Given the description of an element on the screen output the (x, y) to click on. 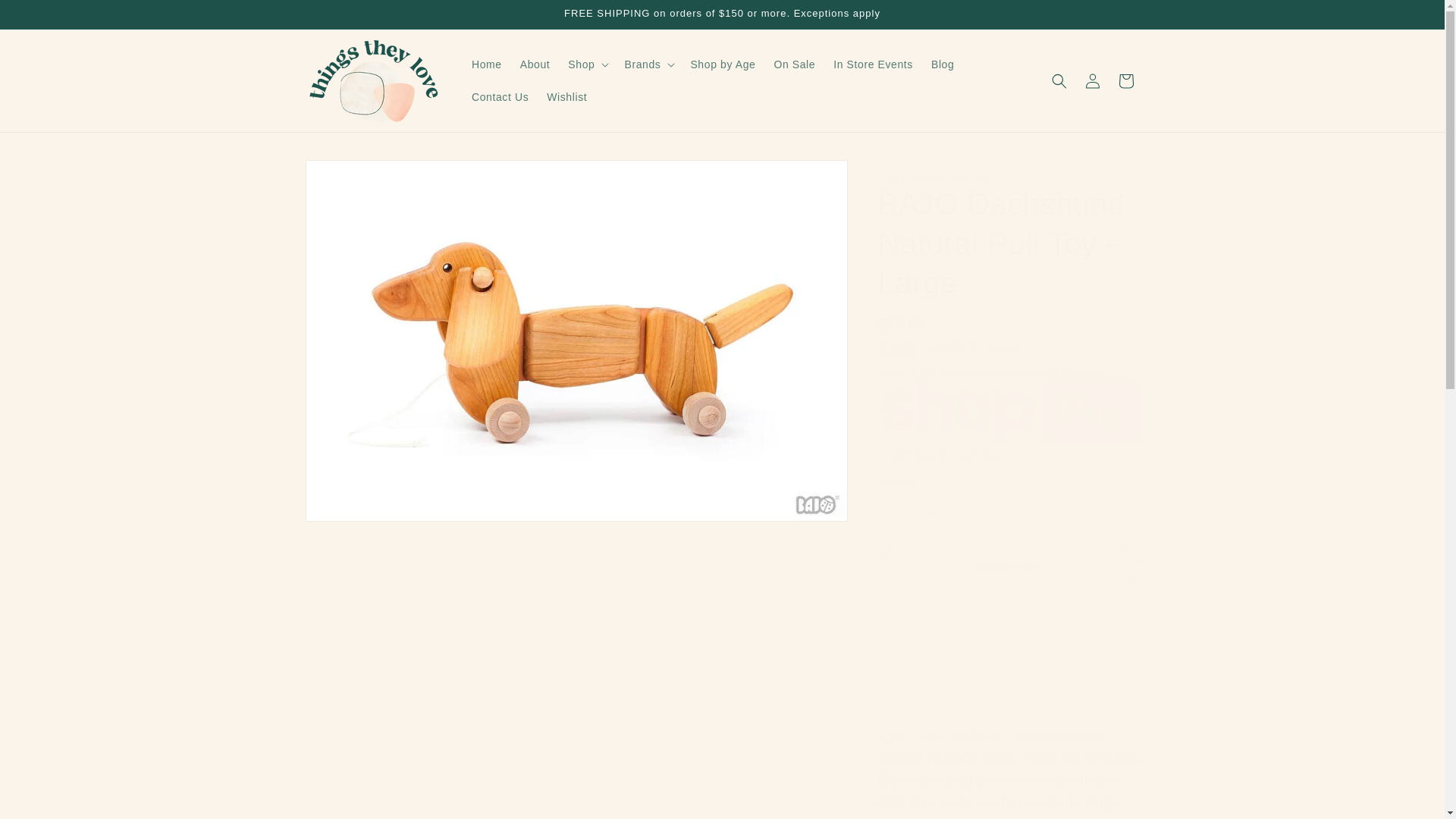
1 (931, 511)
Skip to content (45, 17)
